Given the description of an element on the screen output the (x, y) to click on. 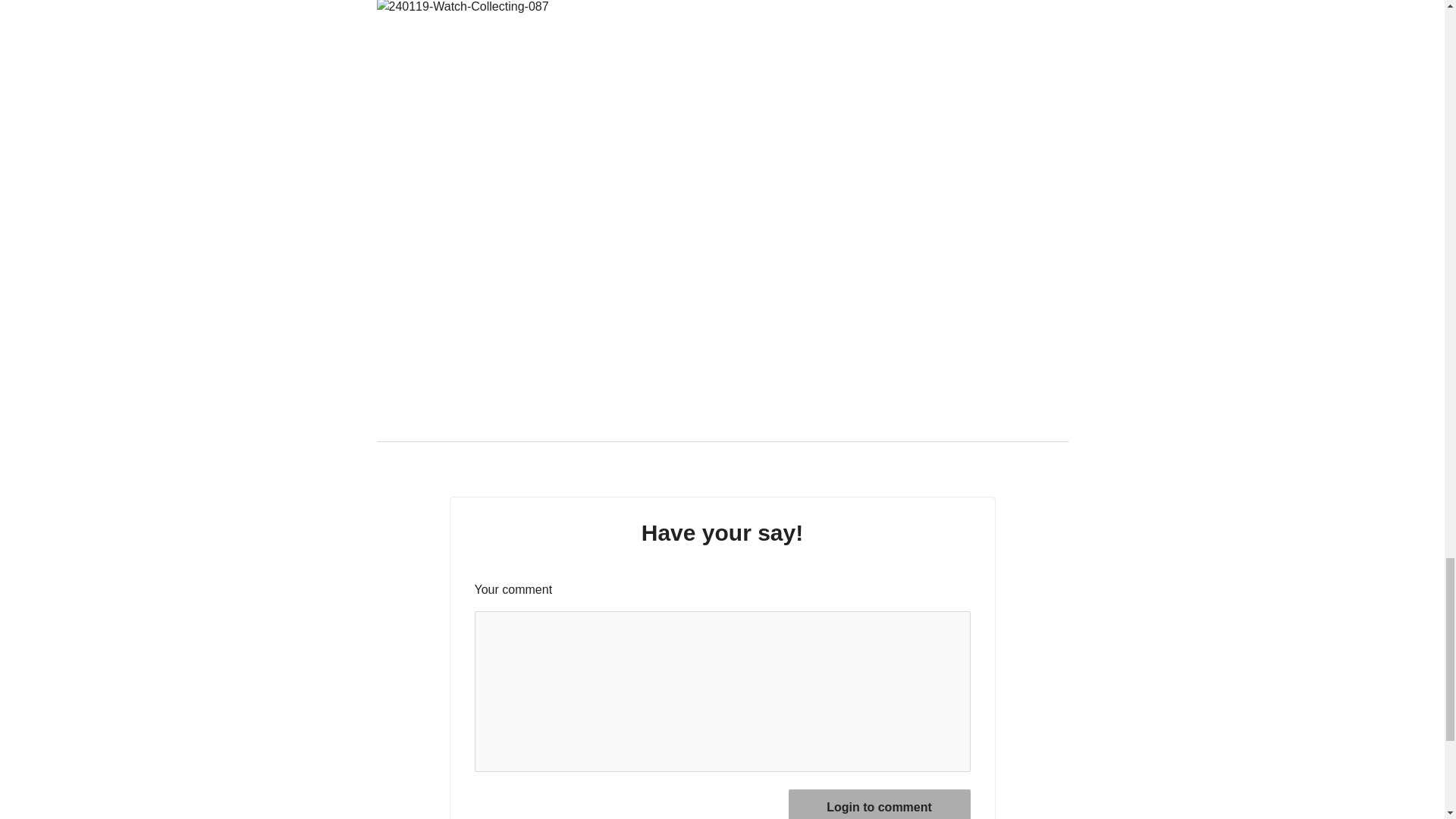
Login to comment (880, 804)
